Given the description of an element on the screen output the (x, y) to click on. 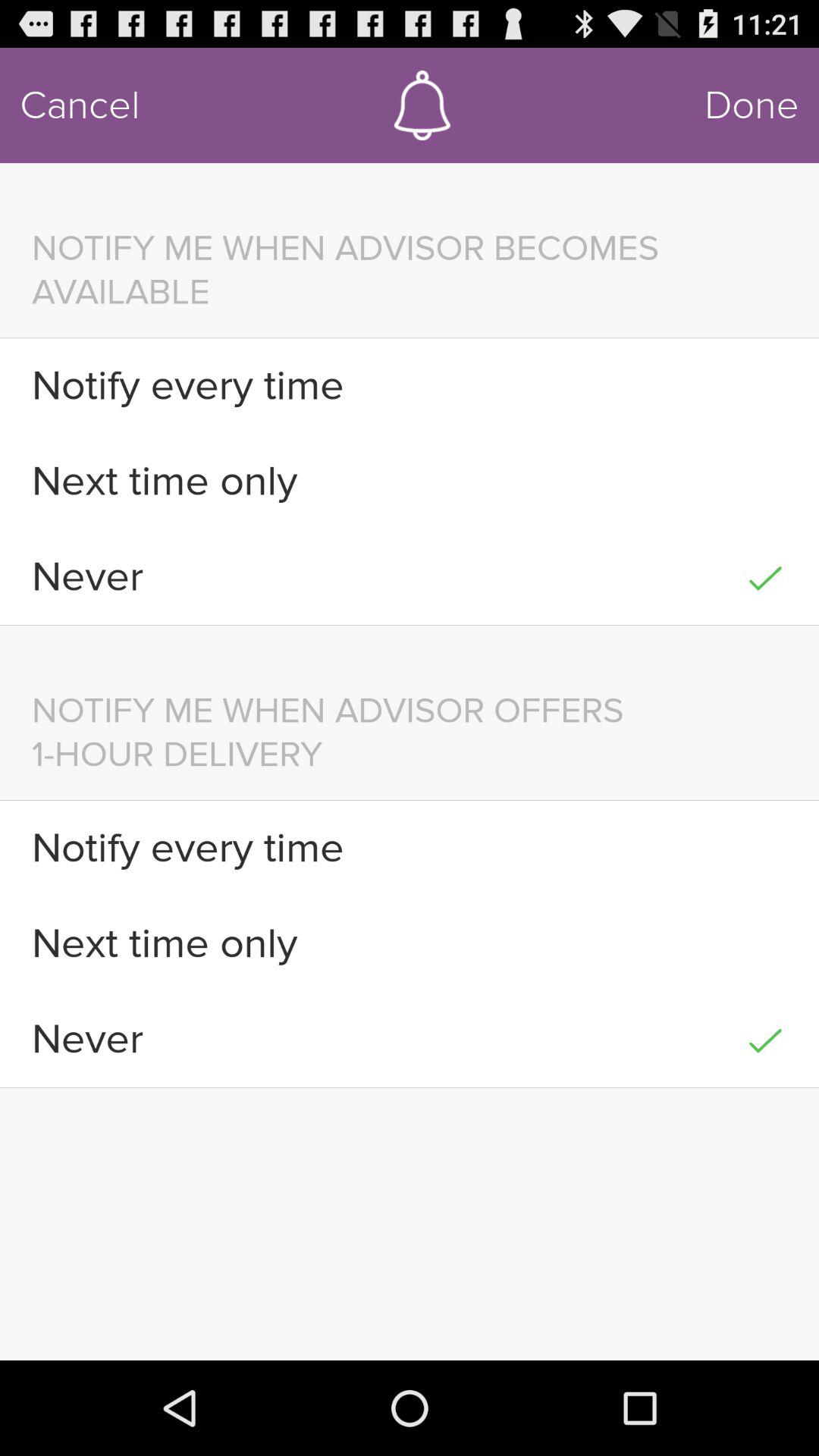
swipe until cancel (79, 105)
